Given the description of an element on the screen output the (x, y) to click on. 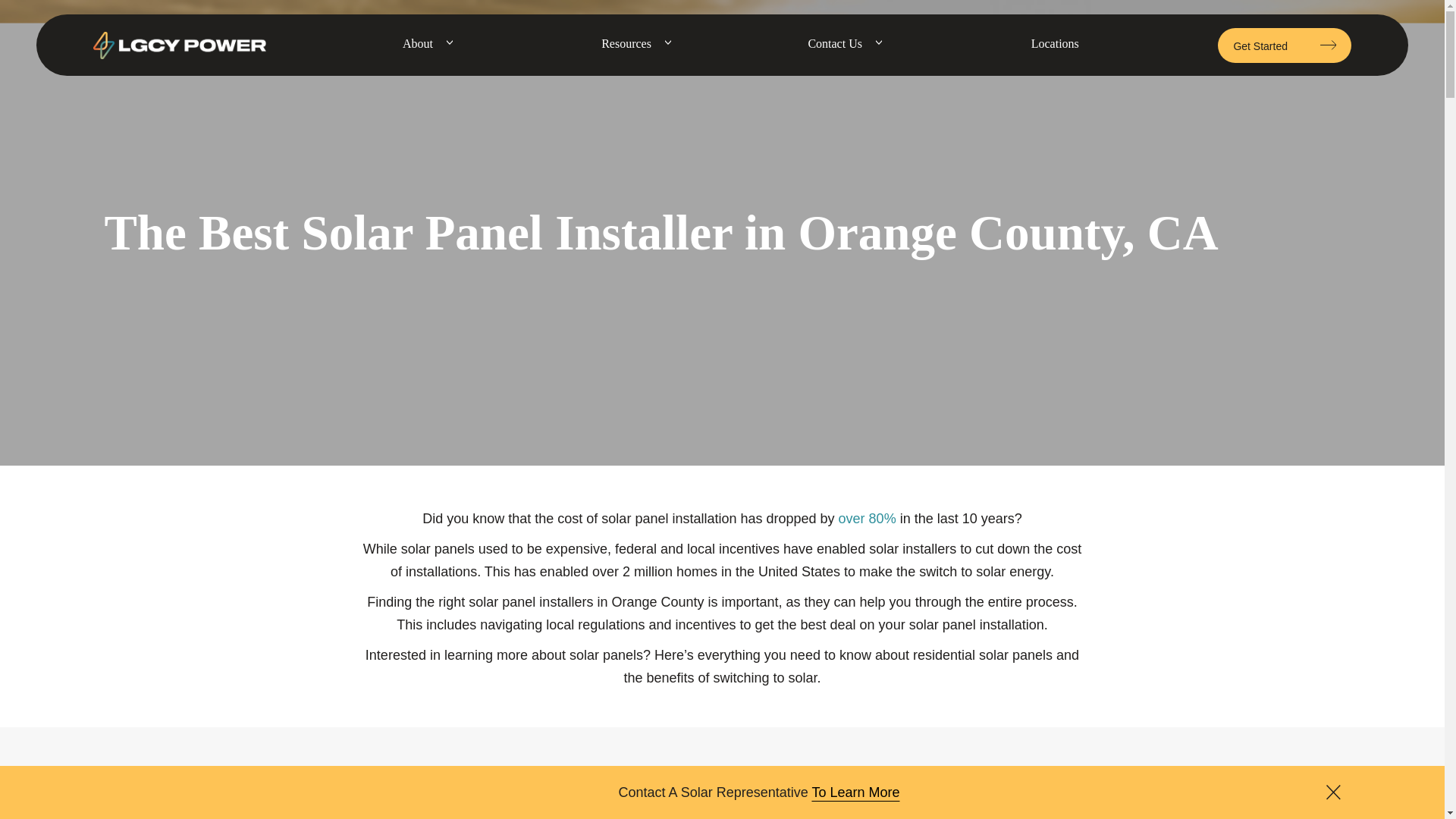
Locations (1054, 43)
Contact Us (834, 43)
Resources (625, 43)
Get Started (1284, 45)
About (417, 43)
